Given the description of an element on the screen output the (x, y) to click on. 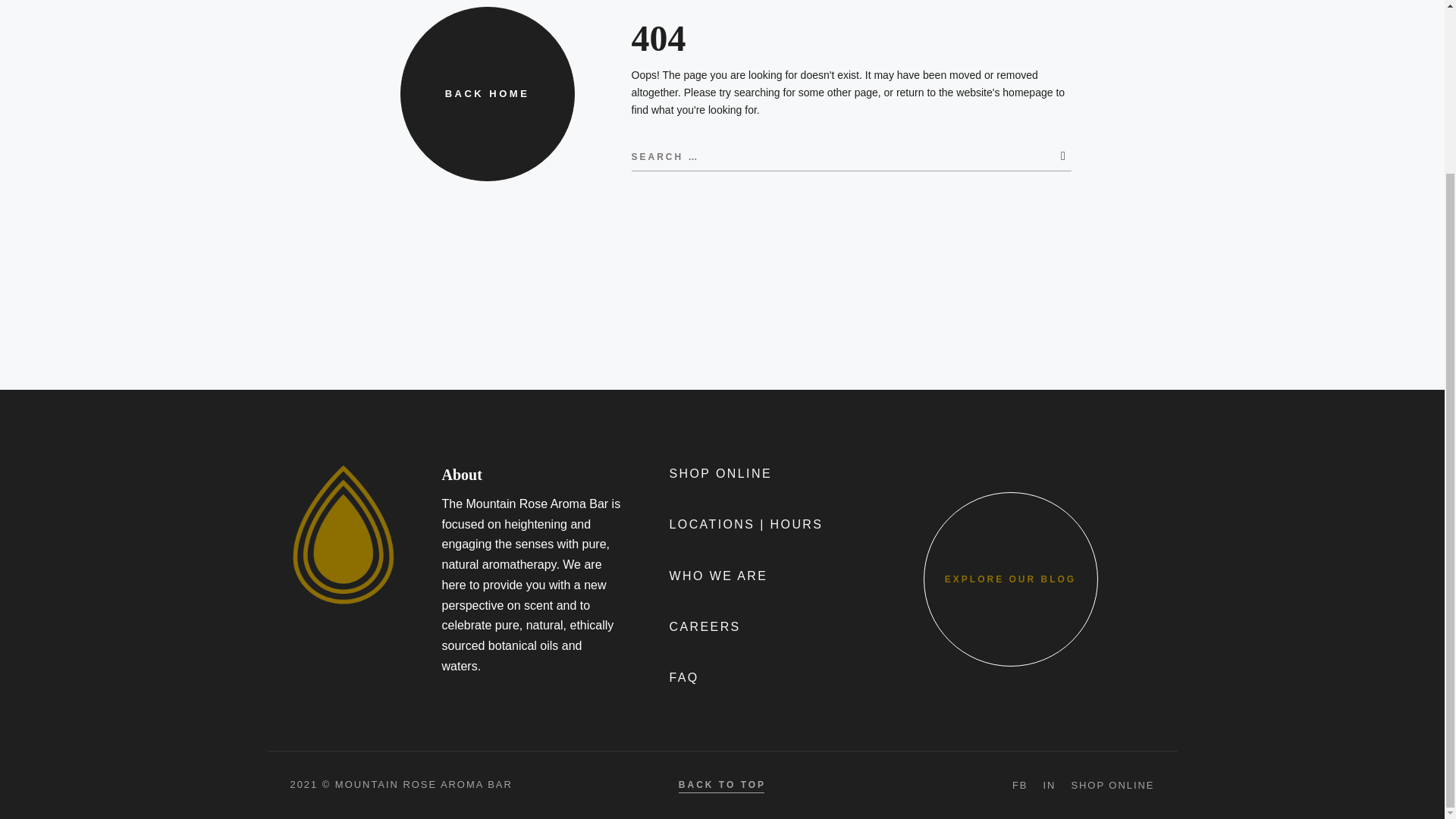
LOCATIONS (1023, 32)
CAREERS (703, 628)
BACK HOME (487, 93)
SHOP ONLINE (1112, 784)
SHOP ONLINE (991, 189)
WHO WE ARE (717, 577)
FAQ (683, 678)
SHOP ONLINE (719, 475)
EXPLORE OUR BLOG (1010, 579)
IN (1048, 784)
